Given the description of an element on the screen output the (x, y) to click on. 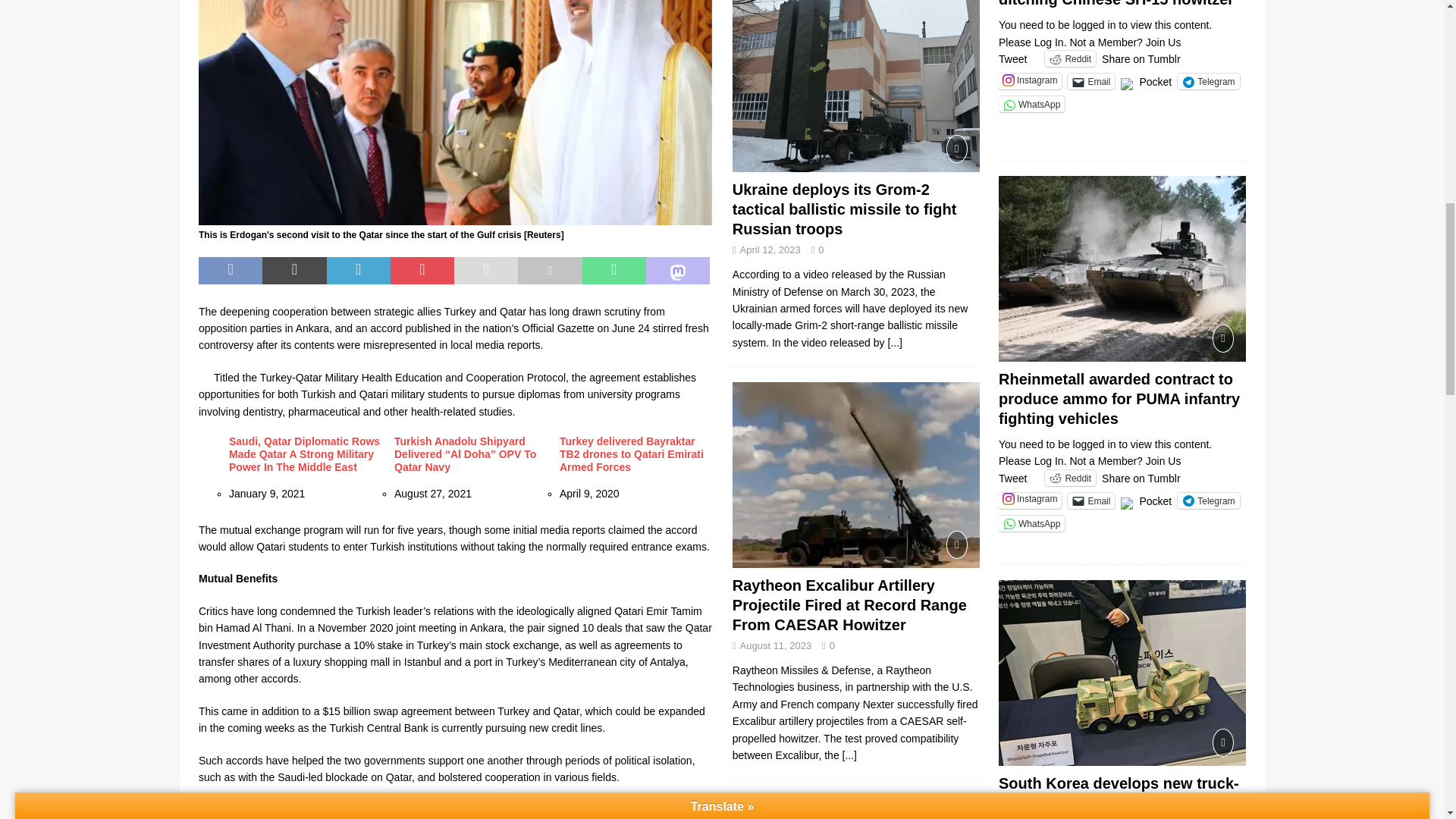
Share on Facebook (230, 270)
Share on LinkedIn (358, 270)
Erdogan in Qatar (455, 112)
Tweet This Post (294, 270)
